Given the description of an element on the screen output the (x, y) to click on. 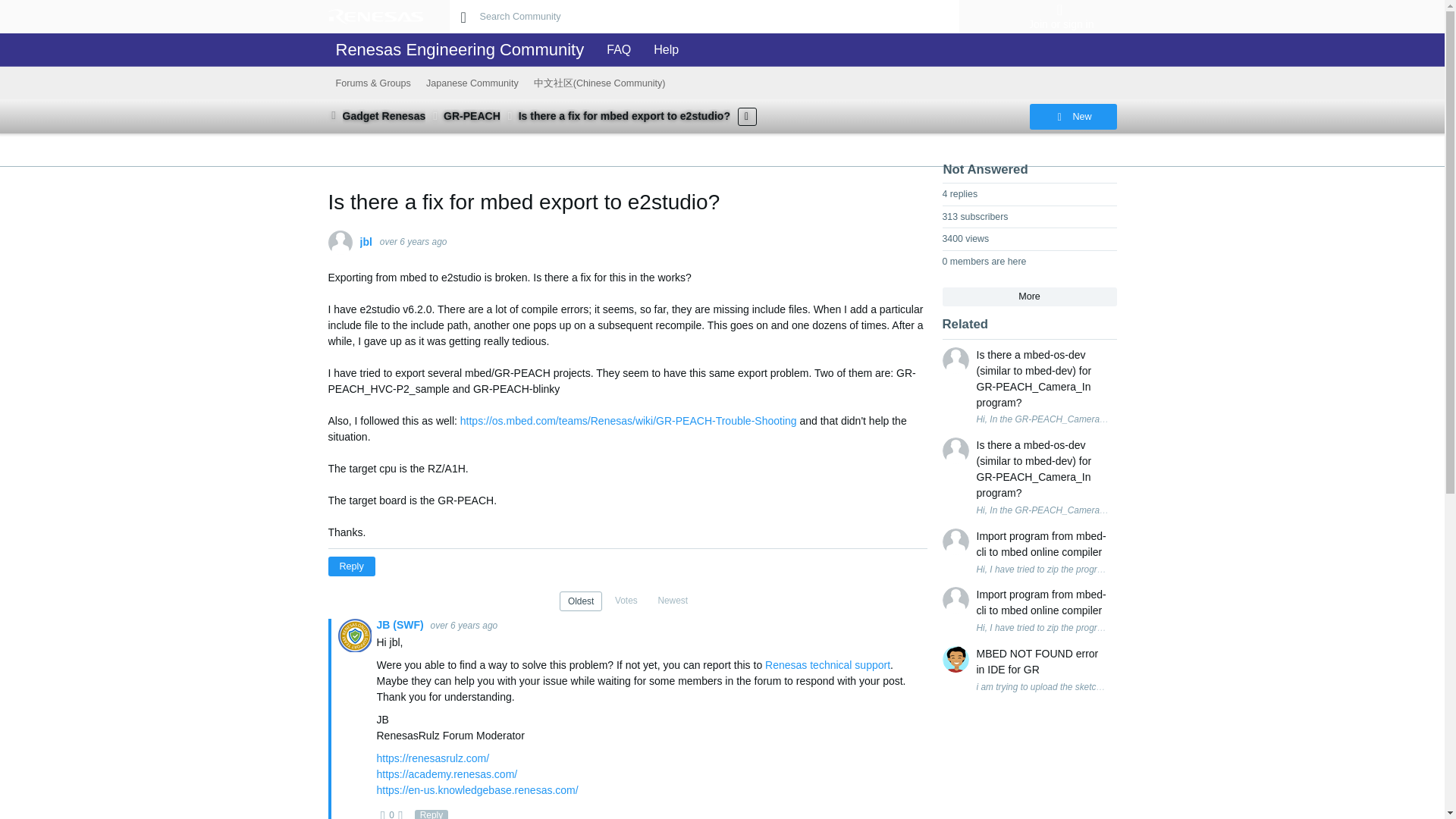
Up to Vault Archive (333, 116)
Renesas Engineering Community (459, 49)
More (1029, 296)
Import program from mbed-cli to mbed online compiler (1042, 603)
Home (374, 16)
Japanese Community (472, 82)
FAQ (615, 49)
Join or sign in (1060, 24)
More (747, 116)
GR-PEACH (472, 115)
